Given the description of an element on the screen output the (x, y) to click on. 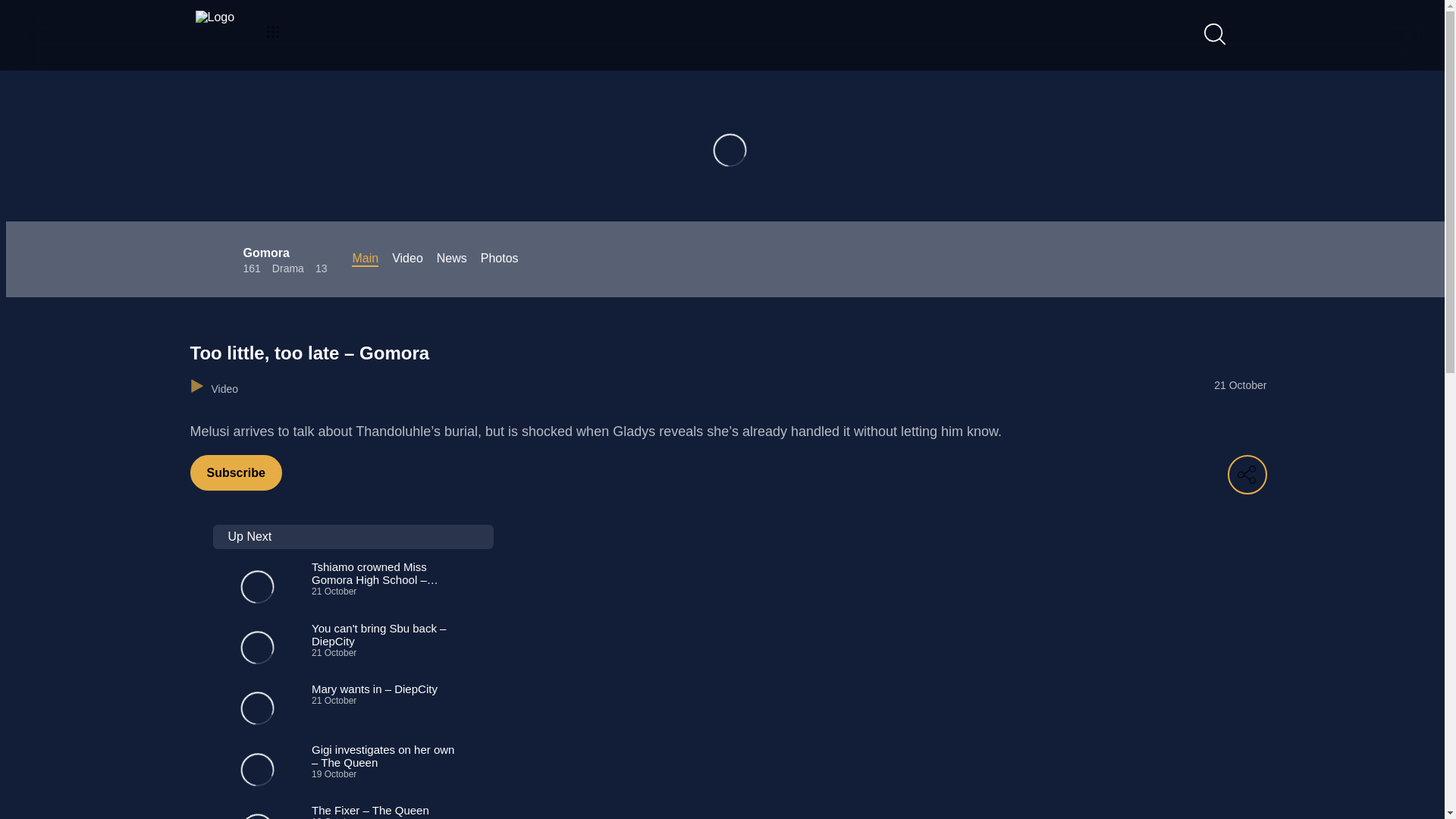
Video (407, 258)
Subscribe (235, 472)
Main (365, 258)
News (451, 258)
Photos (499, 258)
